Given the description of an element on the screen output the (x, y) to click on. 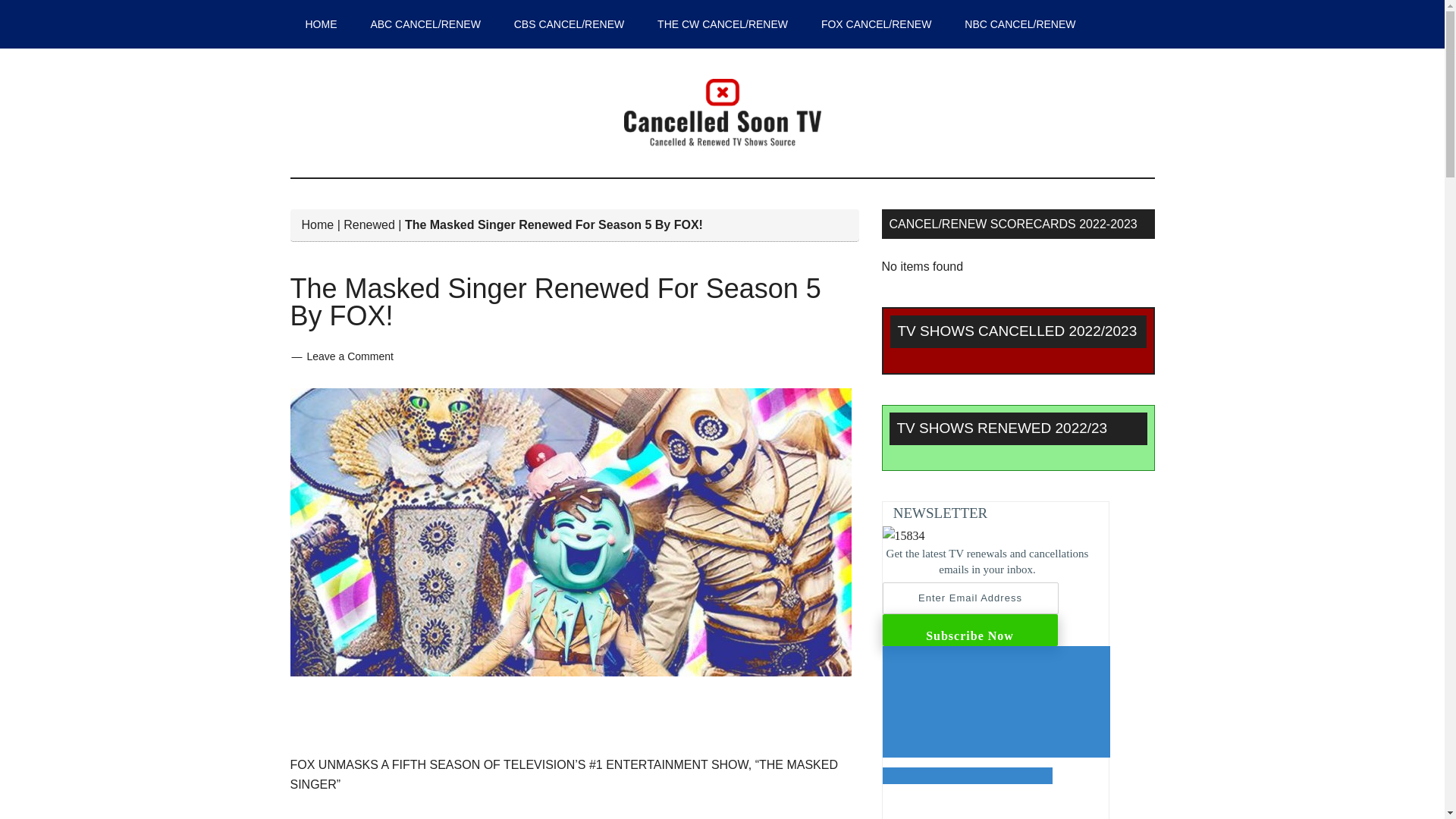
Home (317, 224)
HOME (320, 24)
Subscribe Now (970, 630)
Leave a Comment (349, 356)
Renewed (368, 224)
